Given the description of an element on the screen output the (x, y) to click on. 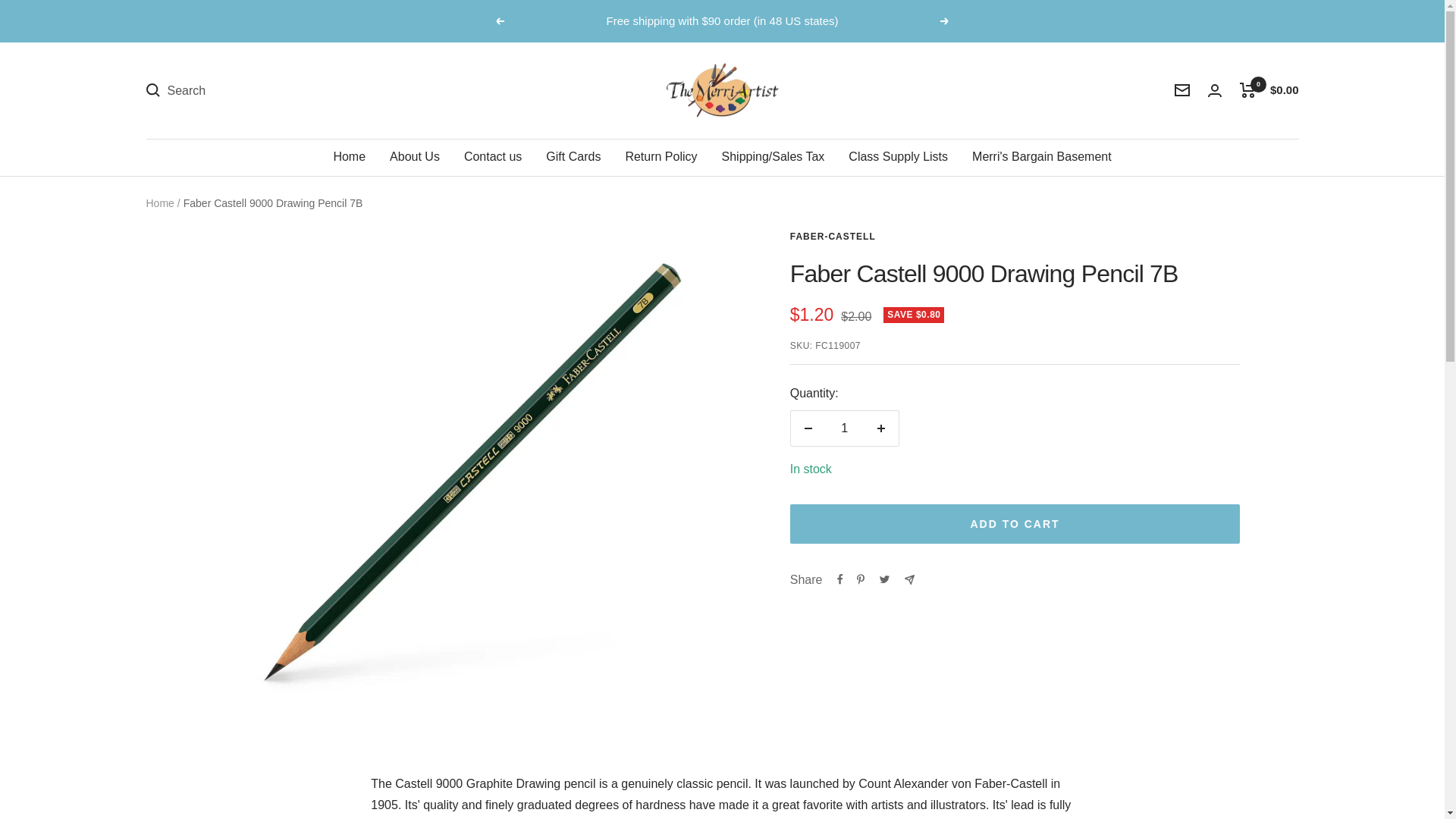
About Us (414, 156)
ADD TO CART (1015, 523)
Class Supply Lists (897, 156)
Newsletter (1181, 90)
FABER-CASTELL (833, 235)
Return Policy (660, 156)
Gift Cards (572, 156)
Decrease quantity (807, 428)
Home (349, 156)
Home (159, 203)
0 (1247, 89)
1 (844, 428)
Previous (499, 21)
Merri's Bargain Basement (1042, 156)
Next (944, 21)
